Given the description of an element on the screen output the (x, y) to click on. 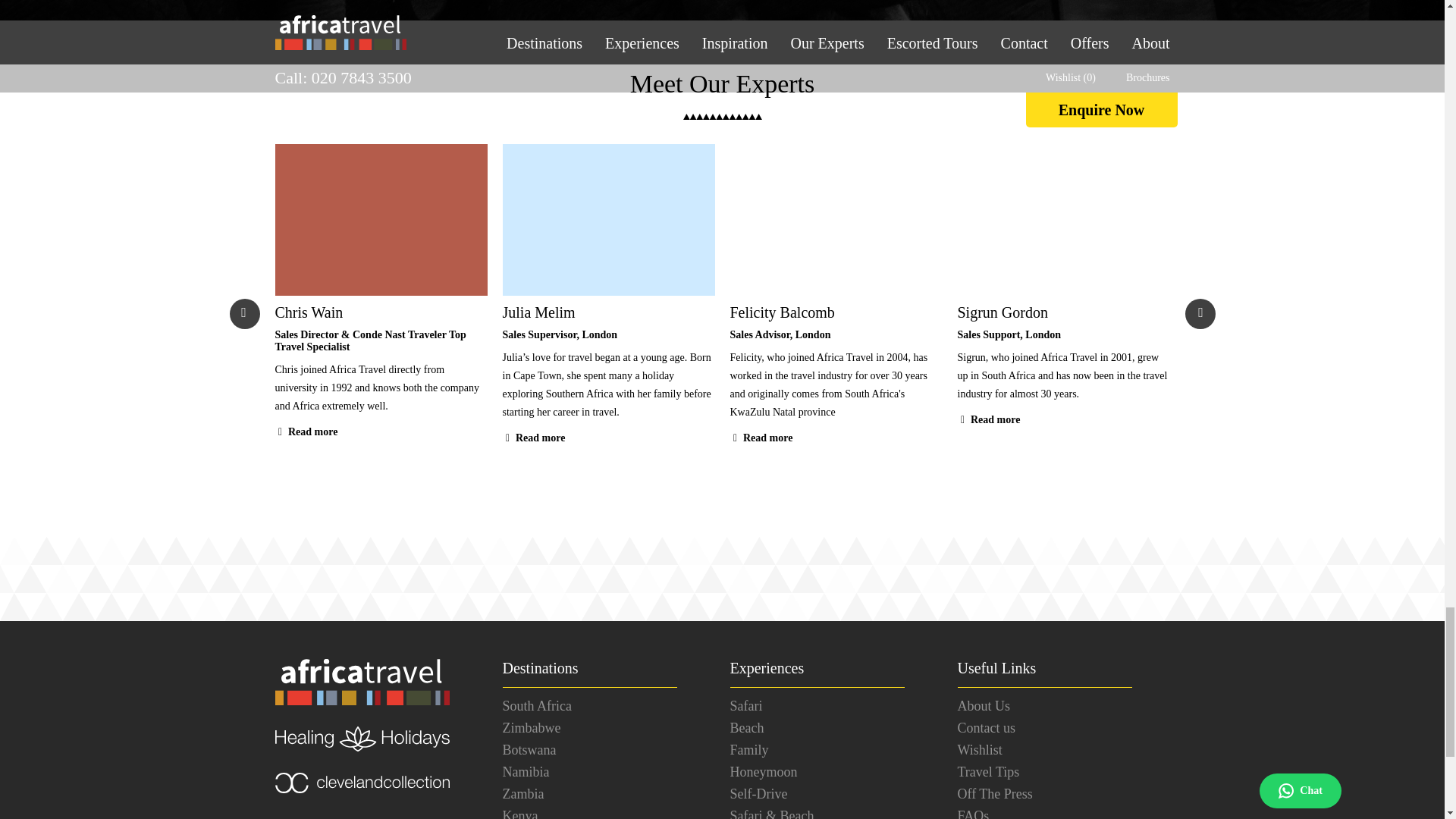
Felicity Balcomb (835, 312)
Read more (533, 437)
Julia Melim (608, 312)
Read more (760, 437)
Chris Wain (380, 312)
Read more (988, 419)
Read more (306, 431)
Sigrun Gordon (1062, 312)
